Given the description of an element on the screen output the (x, y) to click on. 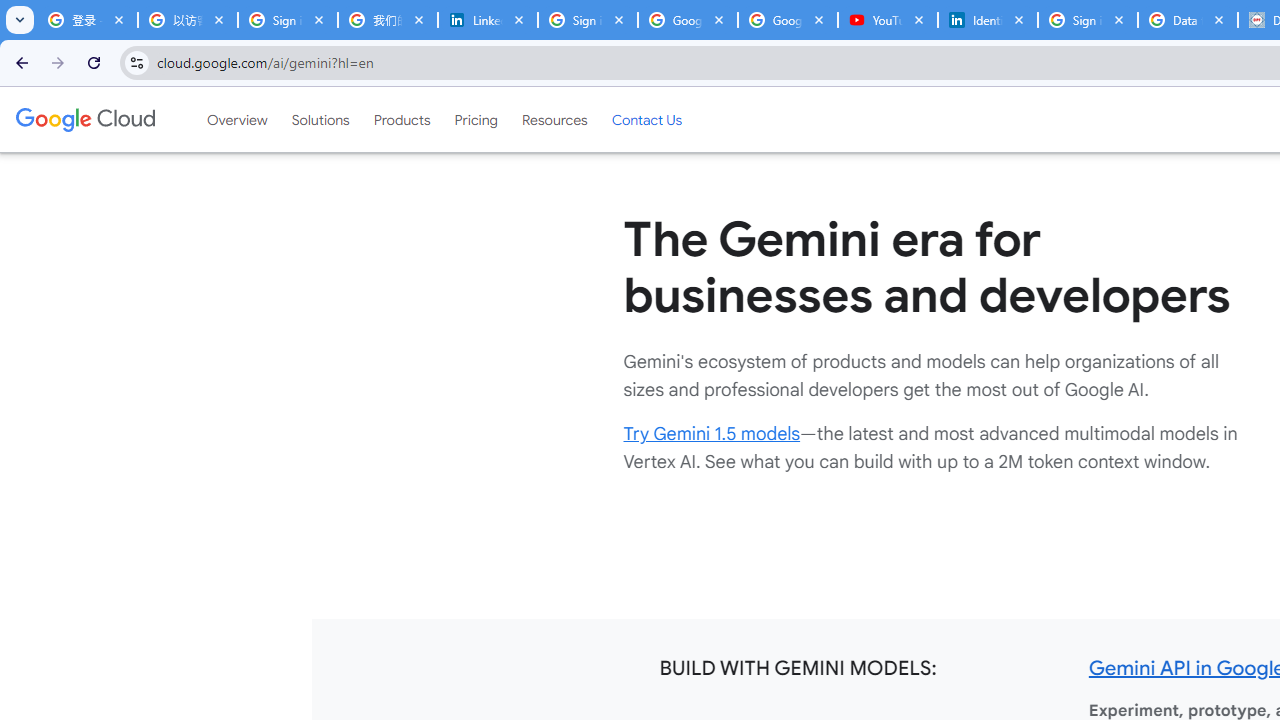
Contact Us (646, 119)
Resources (553, 119)
Try Gemini 1.5 models (712, 433)
Solutions (320, 119)
Sign in - Google Accounts (287, 20)
Pricing (476, 119)
